Given the description of an element on the screen output the (x, y) to click on. 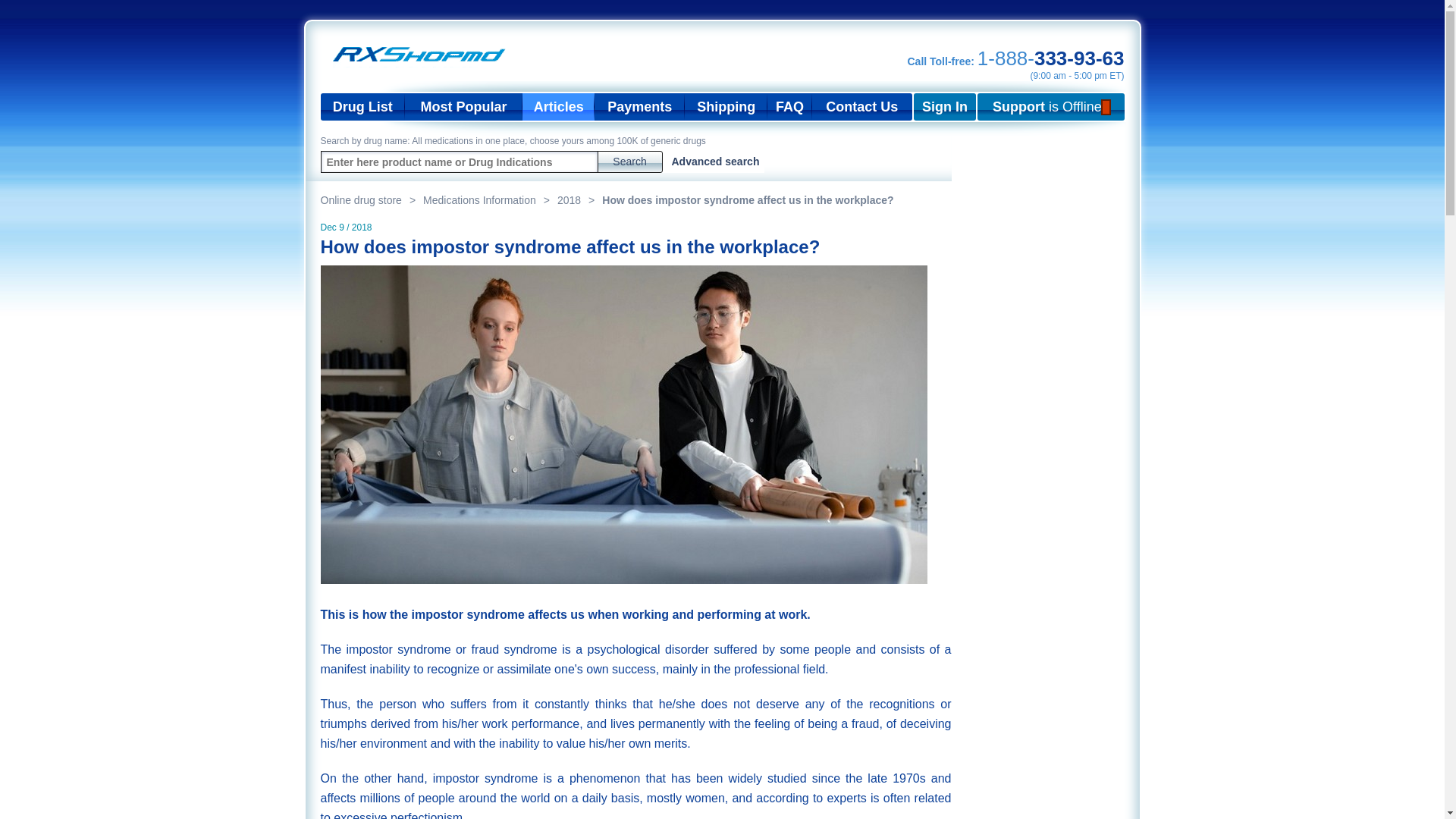
FAQ (789, 106)
Drug List (362, 106)
Drugstore online - RXShop.md (423, 55)
Medications Information (490, 200)
Support is Offline (1050, 106)
Search (629, 161)
Search (629, 161)
2018 (579, 200)
Payments (639, 106)
Most Popular (463, 106)
Advanced search (715, 161)
How does impostor syndrome affect us in the workplace? (747, 200)
Shipping (725, 106)
Articles (558, 106)
Support is Offline (1050, 106)
